Given the description of an element on the screen output the (x, y) to click on. 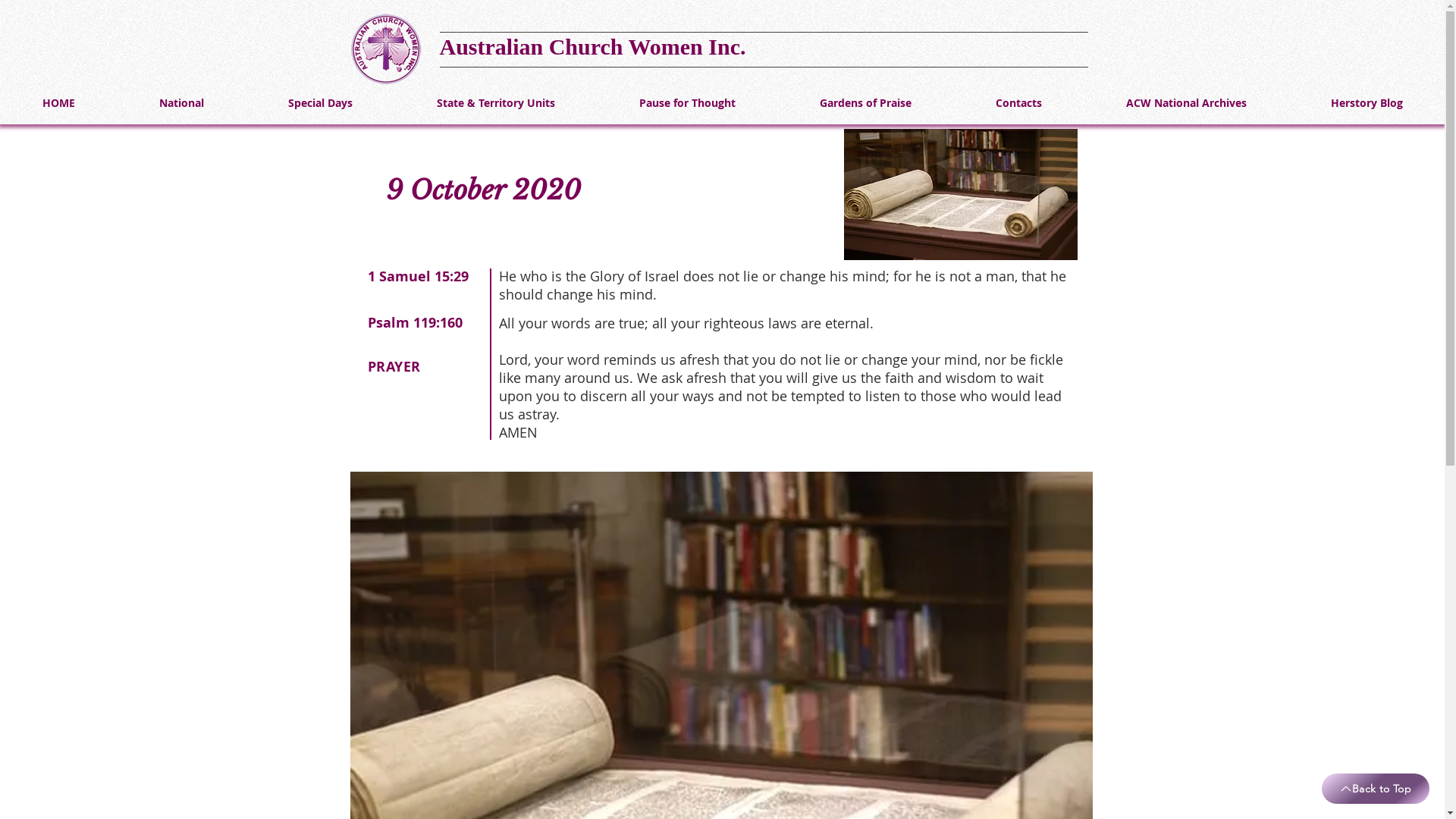
State & Territory Units Element type: text (495, 102)
Herstory Blog Element type: text (1366, 102)
Special Days Element type: text (319, 102)
Pause for Thought Element type: text (686, 102)
WEB-STAT Element type: hover (1159, 43)
Australian Church Women Inc. Element type: text (592, 46)
Gardens of Praise Element type: text (865, 102)
Site Search Element type: hover (1009, 50)
HOME Element type: text (58, 102)
National Element type: text (180, 102)
ACW National Archives Element type: text (1185, 102)
Contacts Element type: text (1018, 102)
Back to Top Element type: text (1375, 788)
